Given the description of an element on the screen output the (x, y) to click on. 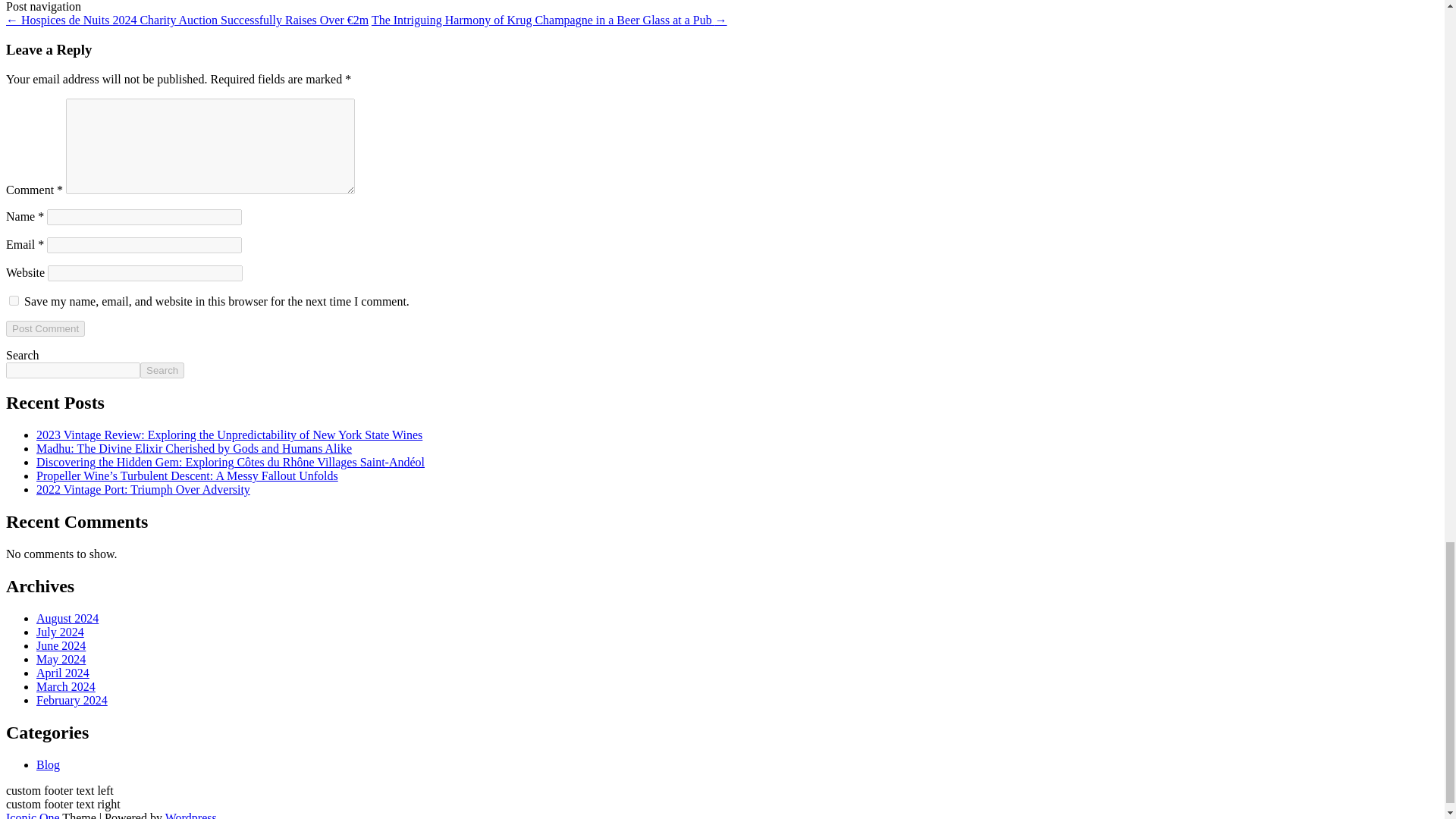
May 2024 (60, 658)
March 2024 (66, 686)
2022 Vintage Port: Triumph Over Adversity (143, 489)
Blog (47, 764)
August 2024 (67, 617)
February 2024 (71, 699)
July 2024 (60, 631)
June 2024 (60, 645)
Madhu: The Divine Elixir Cherished by Gods and Humans Alike (194, 448)
